Given the description of an element on the screen output the (x, y) to click on. 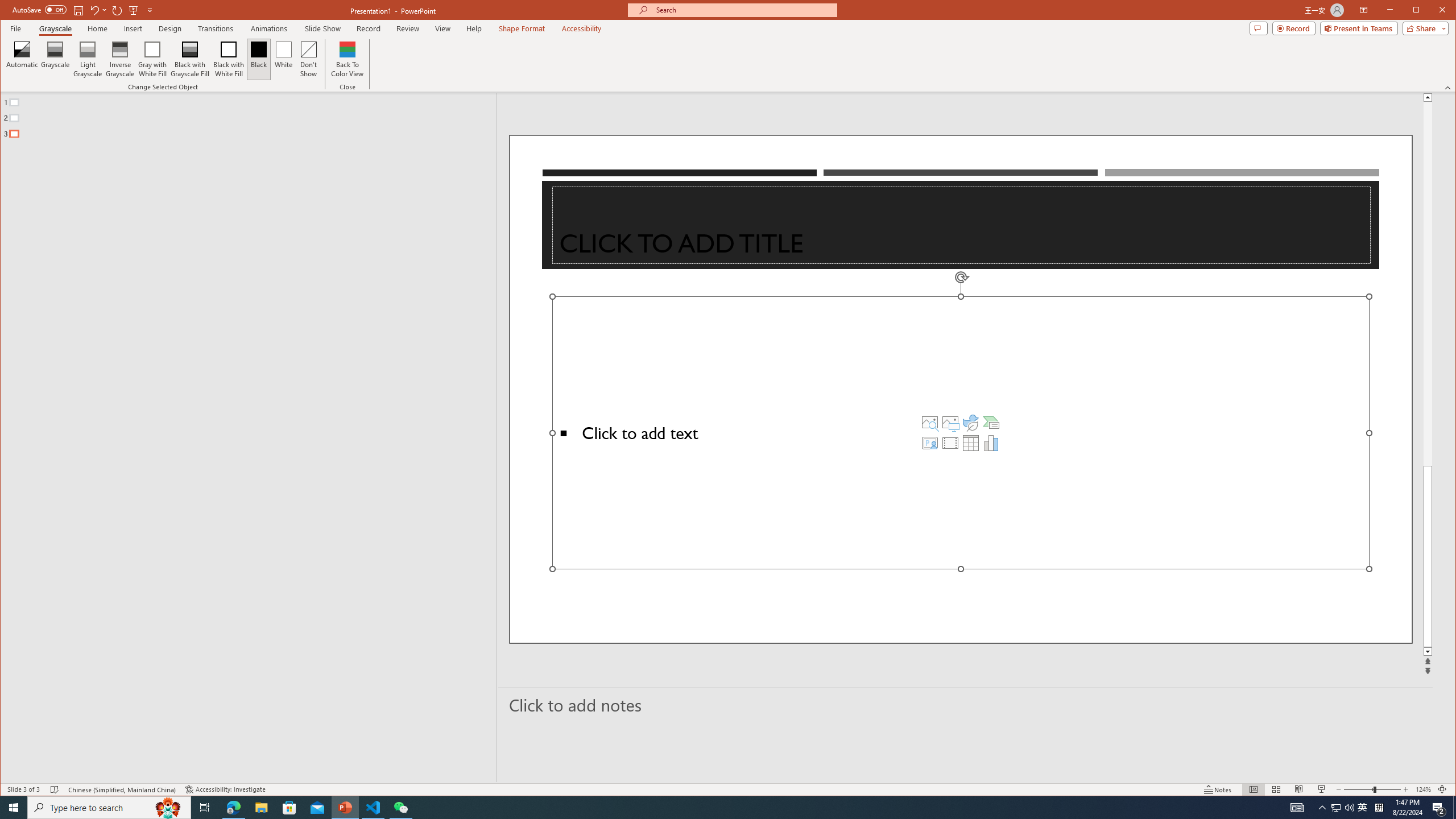
Page up (1427, 283)
WeChat - 1 running window (400, 807)
Slide Sorter (1276, 789)
Redo (117, 9)
Search highlights icon opens search home window (167, 807)
Pictures (949, 422)
Quick Access Toolbar (83, 9)
Record (368, 28)
Ribbon Display Options (1364, 9)
Microsoft Store (289, 807)
Zoom Out (1358, 789)
Grayscale (55, 59)
Insert (133, 28)
Black (258, 59)
Don't Show (308, 59)
